Given the description of an element on the screen output the (x, y) to click on. 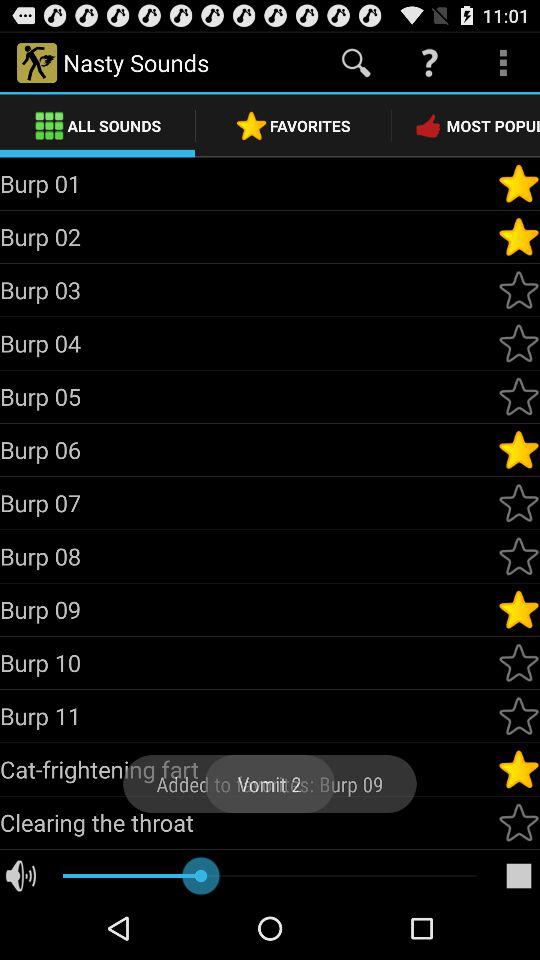
add the sound to your favourites (519, 290)
